Given the description of an element on the screen output the (x, y) to click on. 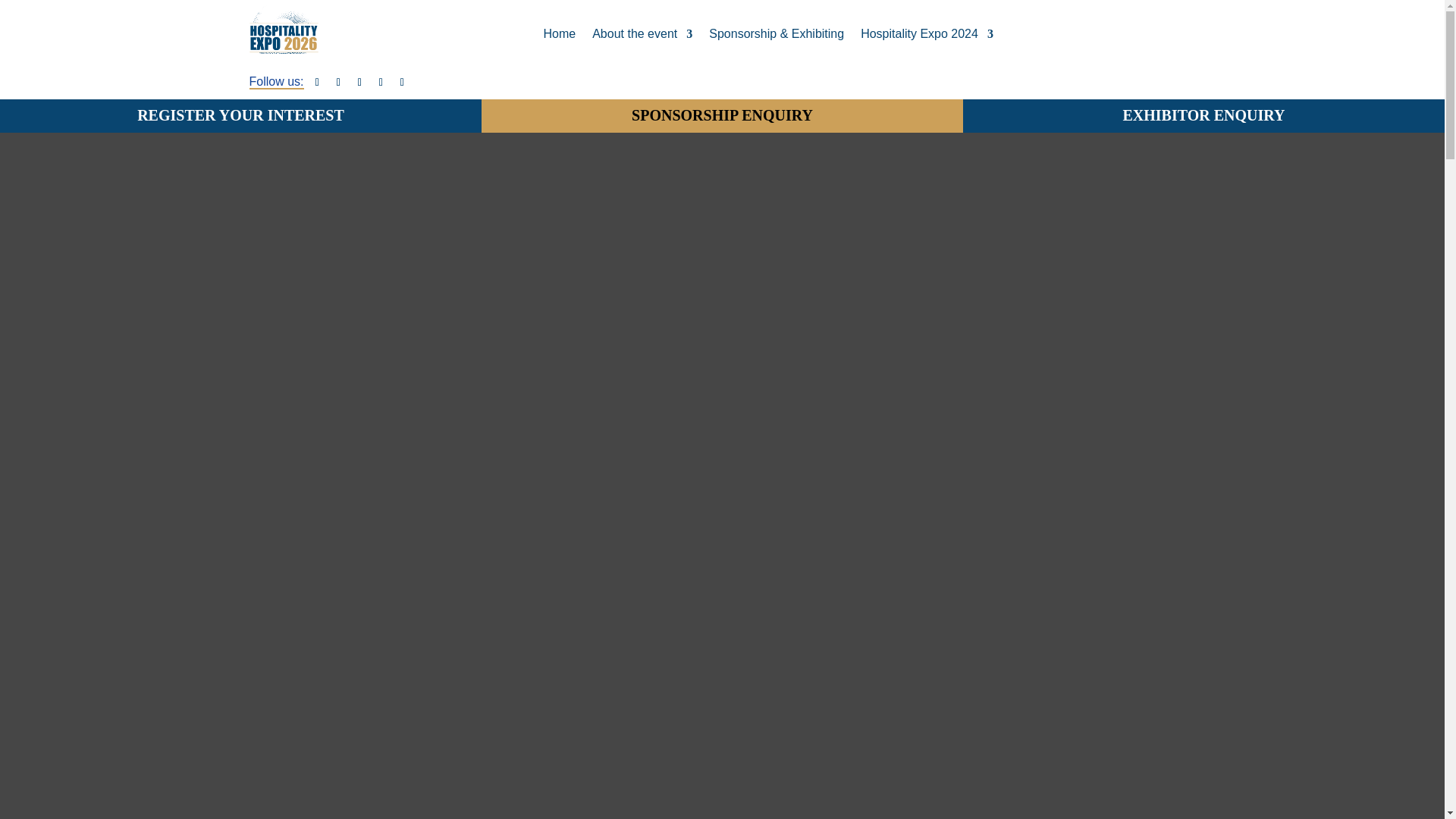
Follow on Instagram (380, 82)
Follow on X (338, 82)
Hospitality Expo 2024 (926, 34)
About the event (642, 34)
REGISTER YOUR INTEREST (240, 115)
SPONSORSHIP ENQUIRY (721, 115)
Follow on TikTok (401, 82)
Follow on LinkedIn (359, 82)
Follow on Facebook (316, 82)
